Given the description of an element on the screen output the (x, y) to click on. 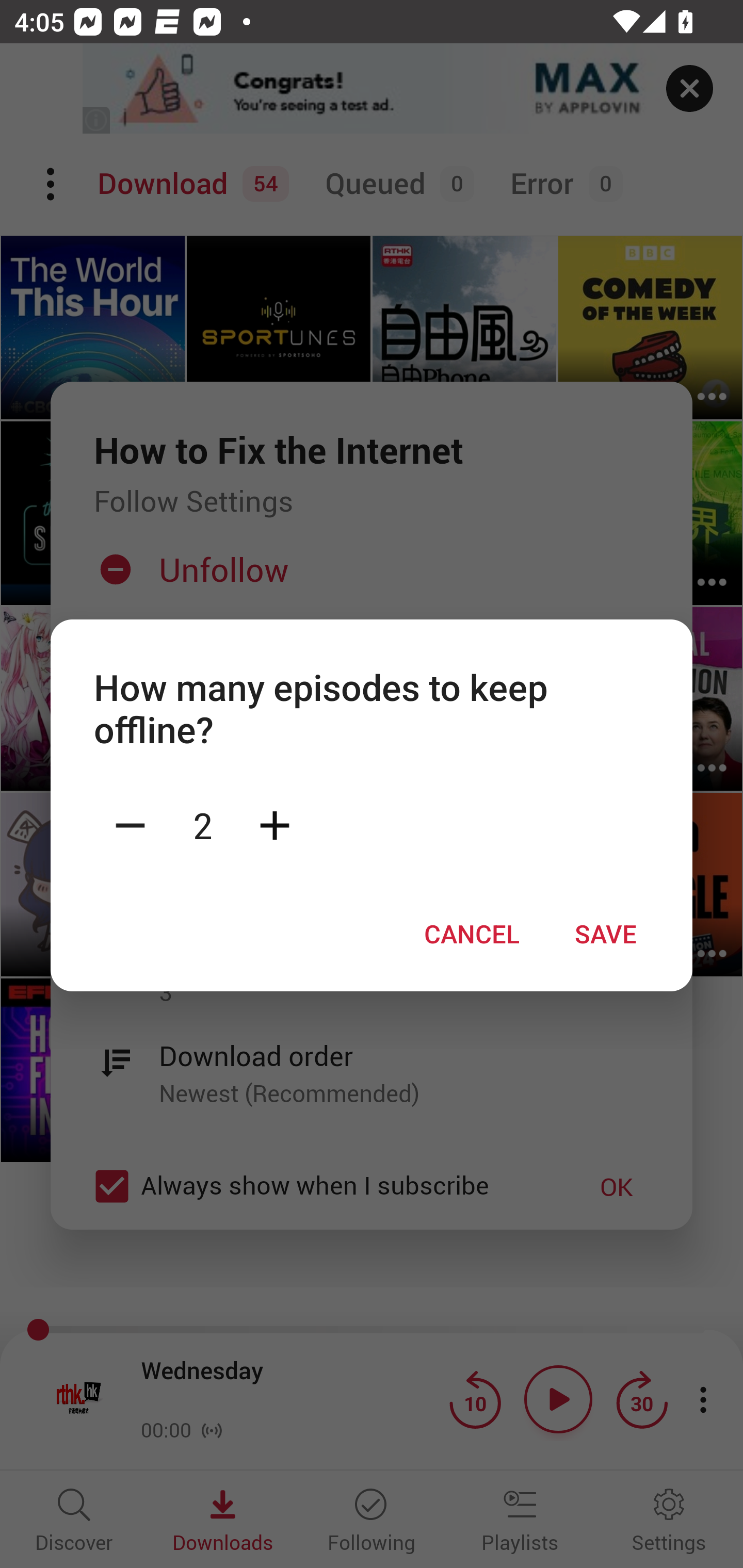
Minus (129, 824)
Plus (274, 824)
CANCEL (470, 933)
SAVE (605, 933)
